Given the description of an element on the screen output the (x, y) to click on. 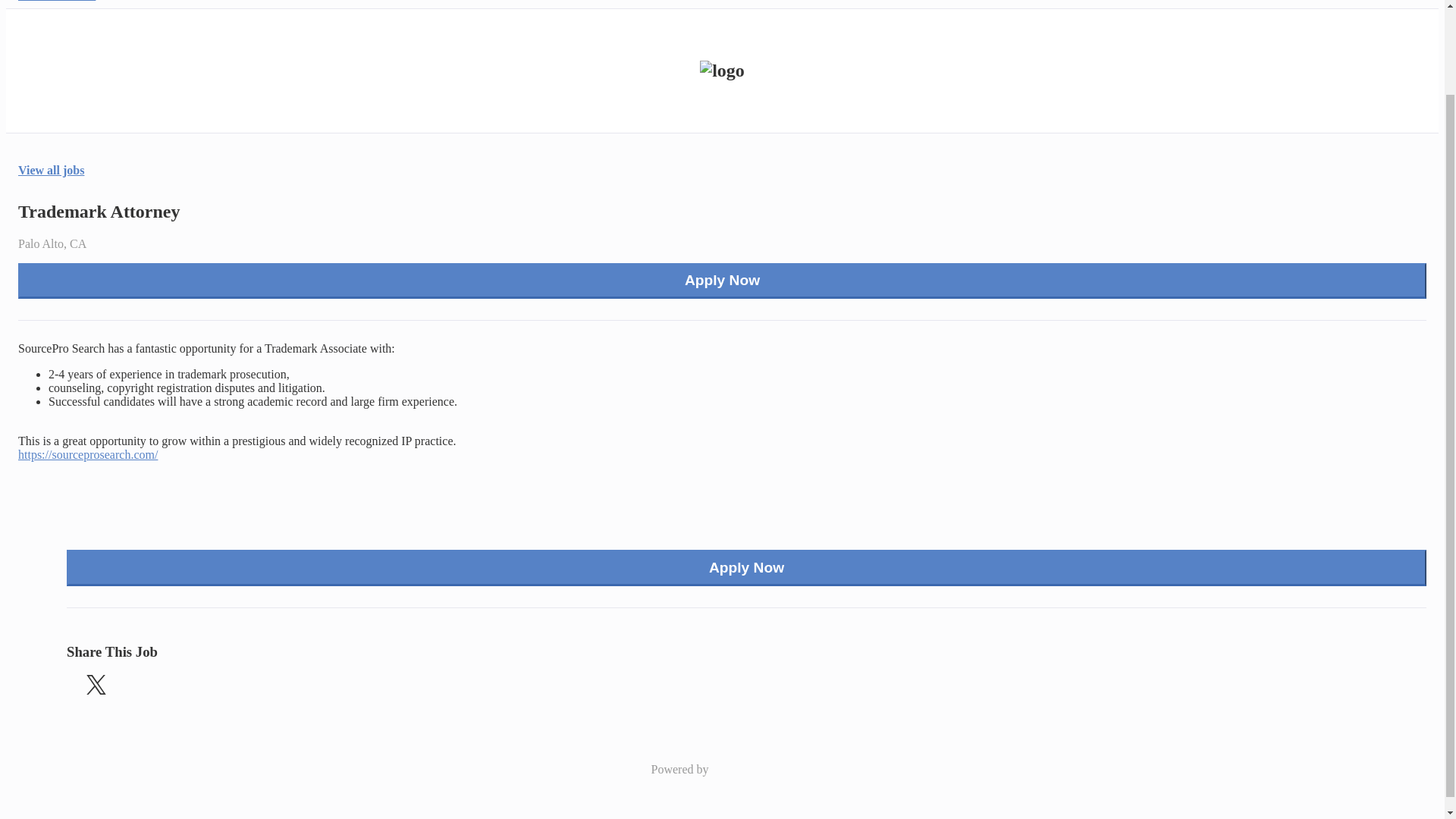
Visit our website (58, 1)
Apply Now (721, 280)
View all jobs (50, 170)
Apply Now (746, 567)
